Given the description of an element on the screen output the (x, y) to click on. 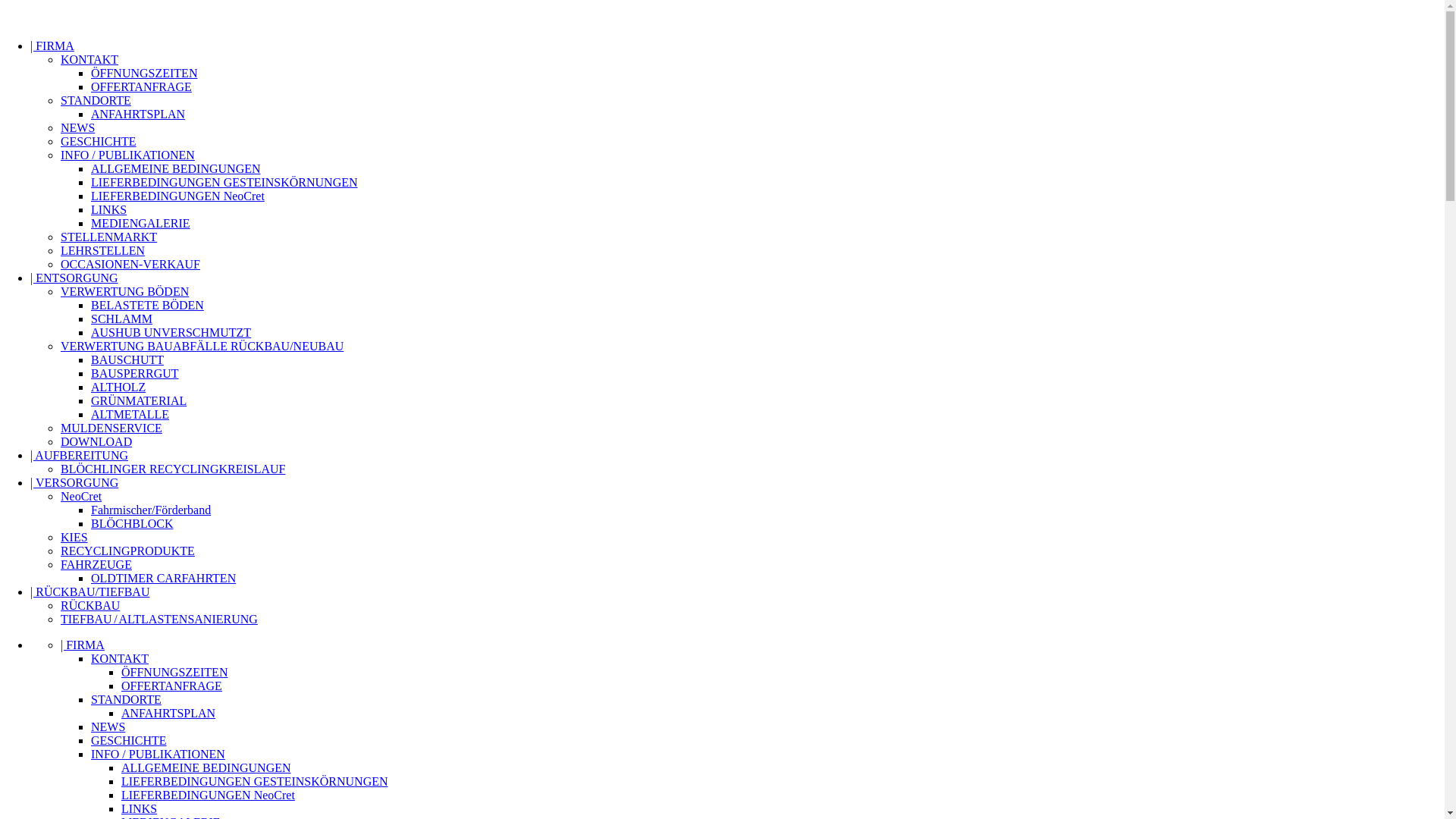
NEWS Element type: text (108, 726)
GESCHICHTE Element type: text (98, 140)
KONTAKT Element type: text (89, 59)
| ENTSORGUNG Element type: text (74, 277)
BAUSCHUTT Element type: text (127, 359)
OFFERTANFRAGE Element type: text (141, 86)
KIES Element type: text (73, 536)
LIEFERBEDINGUNGEN NeoCret Element type: text (177, 195)
MEDIENGALERIE Element type: text (140, 222)
DOWNLOAD Element type: text (95, 441)
INFO / PUBLIKATIONEN Element type: text (158, 753)
BAUSPERRGUT Element type: text (134, 373)
NEWS Element type: text (77, 127)
ALTMETALLE Element type: text (130, 413)
ALLGEMEINE BEDINGUNGEN Element type: text (175, 168)
OLDTIMER CARFAHRTEN Element type: text (163, 577)
SCHLAMM Element type: text (121, 318)
STANDORTE Element type: text (95, 100)
| VERSORGUNG Element type: text (74, 482)
STANDORTE Element type: text (126, 699)
GESCHICHTE Element type: text (128, 740)
LIEFERBEDINGUNGEN NeoCret Element type: text (207, 794)
ANFAHRTSPLAN Element type: text (168, 712)
MULDENSERVICE Element type: text (111, 427)
KONTAKT Element type: text (119, 658)
STELLENMARKT Element type: text (108, 236)
NeoCret Element type: text (80, 495)
| FIRMA Element type: text (52, 45)
AUSHUB UNVERSCHMUTZT Element type: text (171, 332)
OFFERTANFRAGE Element type: text (171, 685)
LINKS Element type: text (138, 808)
OCCASIONEN-VERKAUF Element type: text (130, 263)
LINKS Element type: text (108, 209)
| FIRMA Element type: text (82, 644)
ALTHOLZ Element type: text (118, 386)
ANFAHRTSPLAN Element type: text (138, 113)
INFO / PUBLIKATIONEN Element type: text (127, 154)
RECYCLINGPRODUKTE Element type: text (127, 550)
ALLGEMEINE BEDINGUNGEN Element type: text (206, 767)
FAHRZEUGE Element type: text (95, 564)
| AUFBEREITUNG Element type: text (79, 454)
LEHRSTELLEN Element type: text (102, 250)
